Given the description of an element on the screen output the (x, y) to click on. 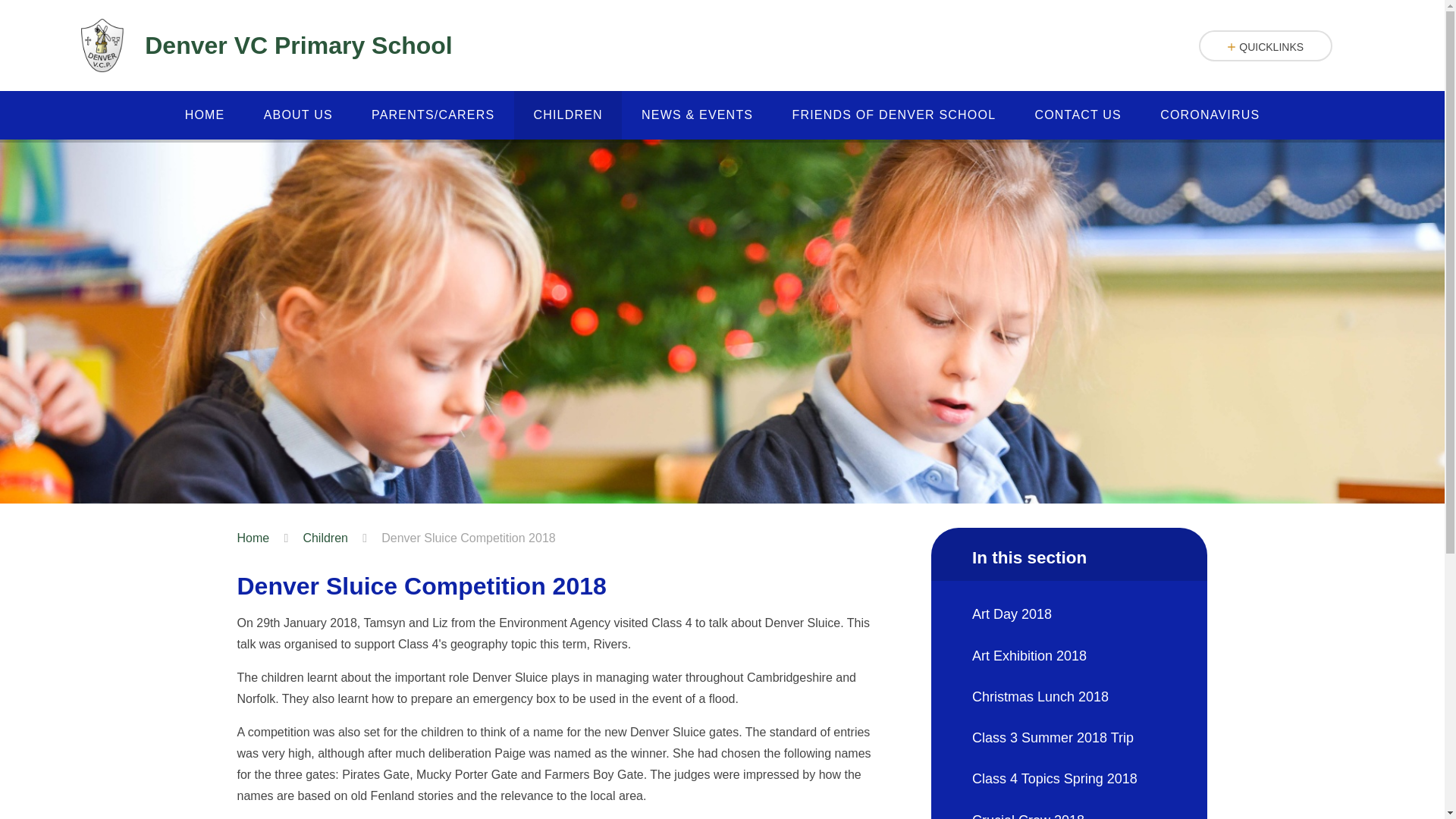
HOME (204, 114)
ABOUT US (298, 114)
Denver VC Primary School (261, 45)
